Given the description of an element on the screen output the (x, y) to click on. 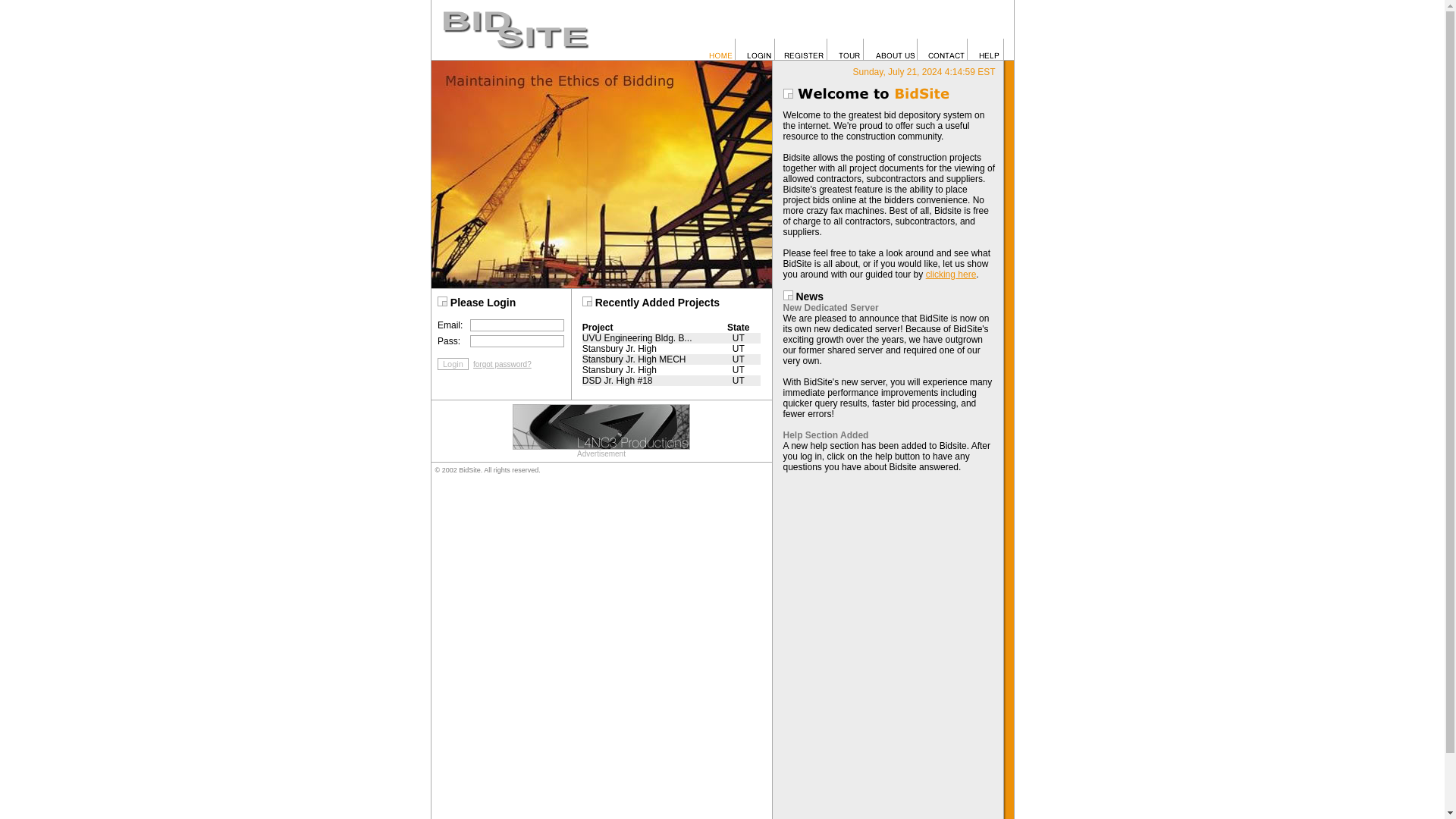
 forgot password? (500, 364)
Login (453, 363)
clicking here (951, 274)
